Given the description of an element on the screen output the (x, y) to click on. 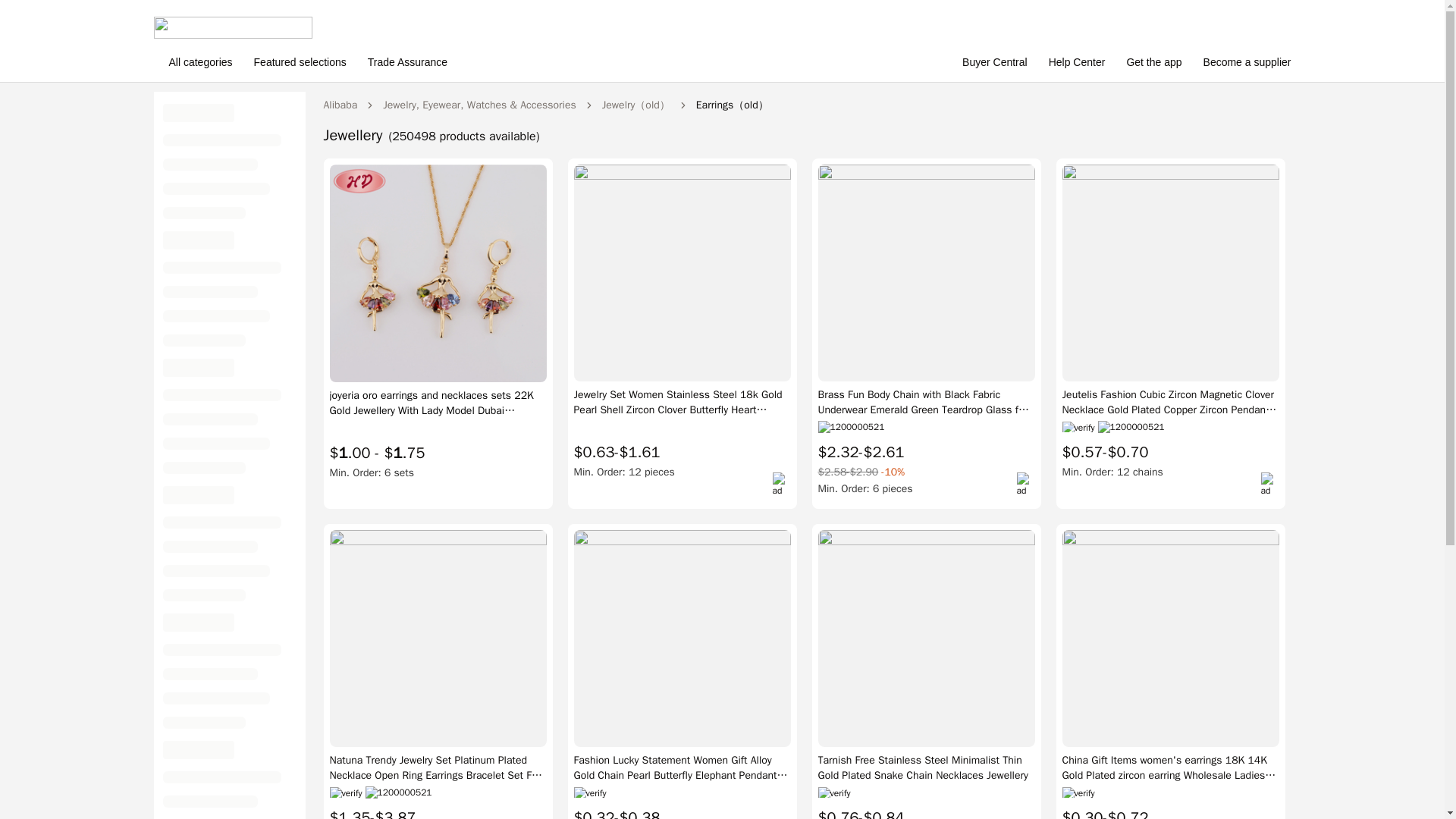
Alibaba (339, 105)
